Given the description of an element on the screen output the (x, y) to click on. 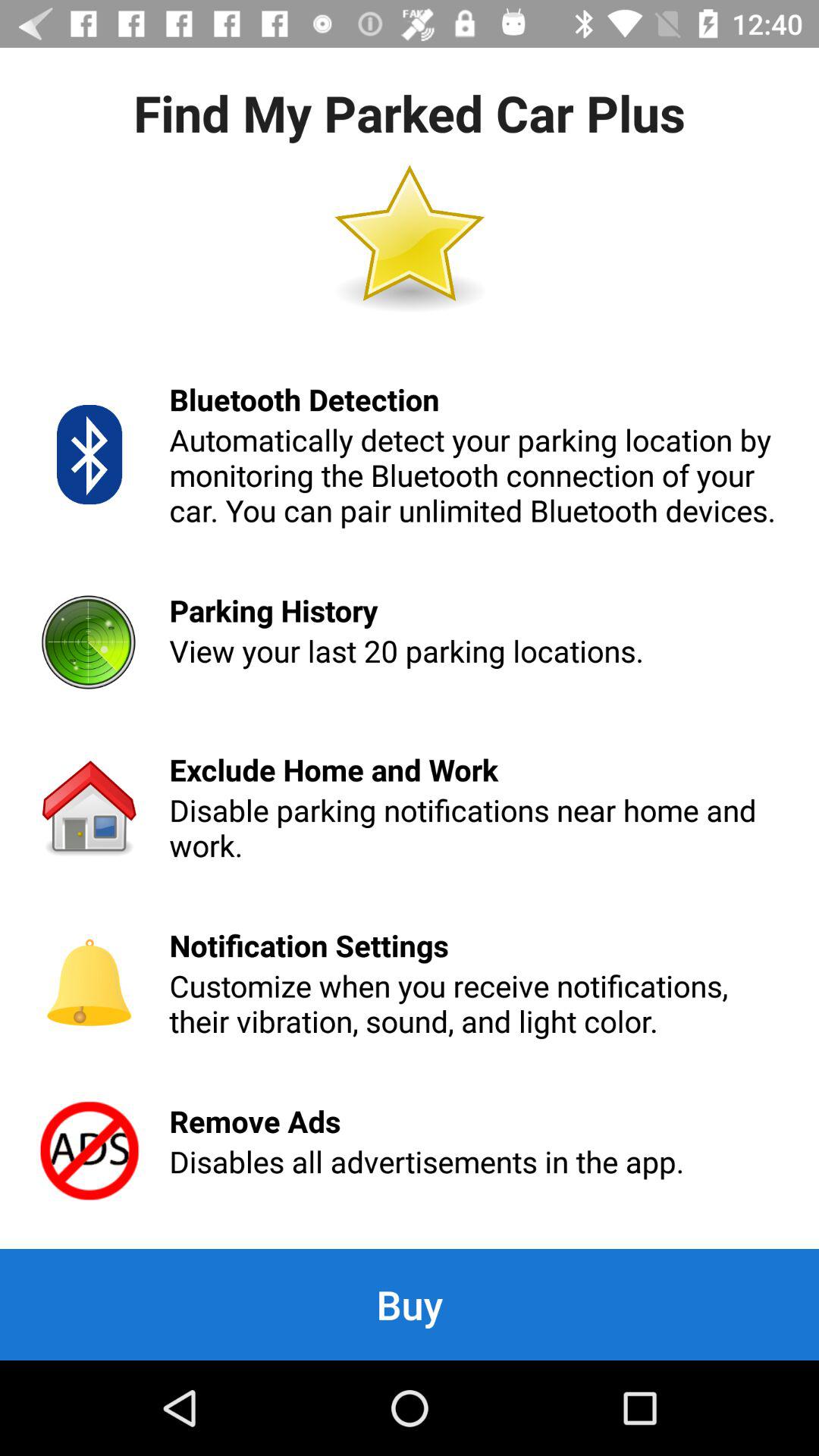
flip to the buy (409, 1304)
